Given the description of an element on the screen output the (x, y) to click on. 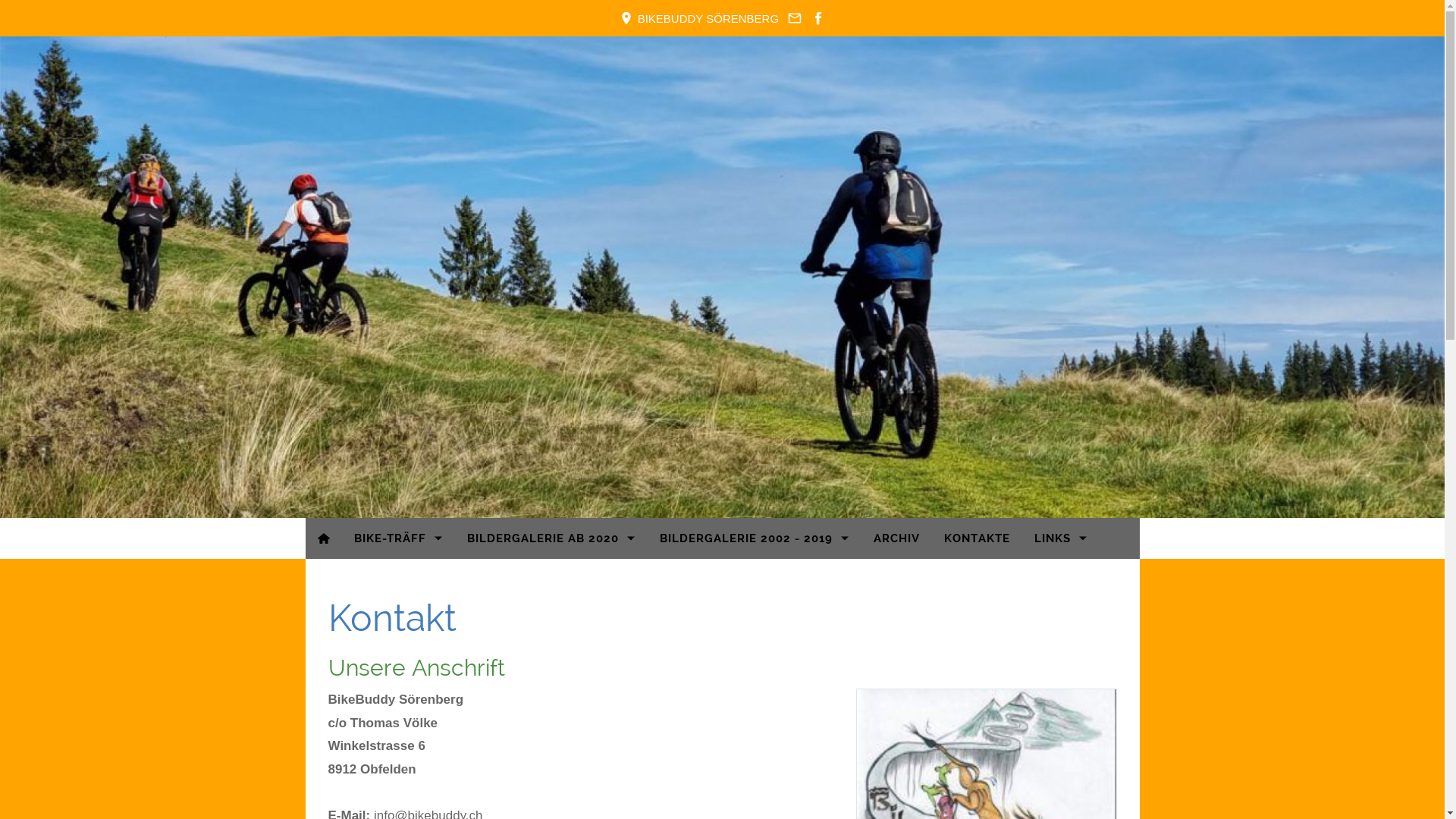
LINKS Element type: text (1060, 537)
ARCHIV Element type: text (896, 537)
BILDERGALERIE AB 2020 Element type: text (551, 537)
BILDERGALERIE 2002 - 2019 Element type: text (754, 537)
KONTAKTE Element type: text (976, 537)
